Given the description of an element on the screen output the (x, y) to click on. 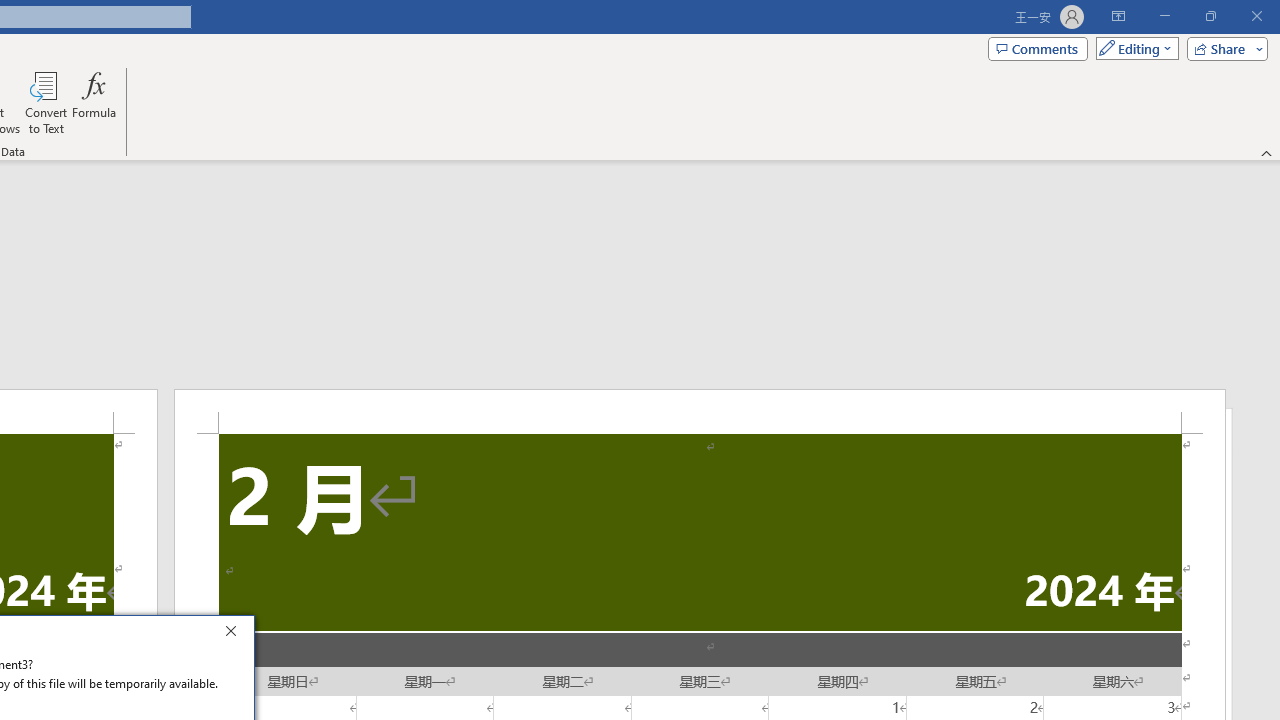
Convert to Text... (46, 102)
Formula... (94, 102)
Header -Section 2- (700, 411)
